Given the description of an element on the screen output the (x, y) to click on. 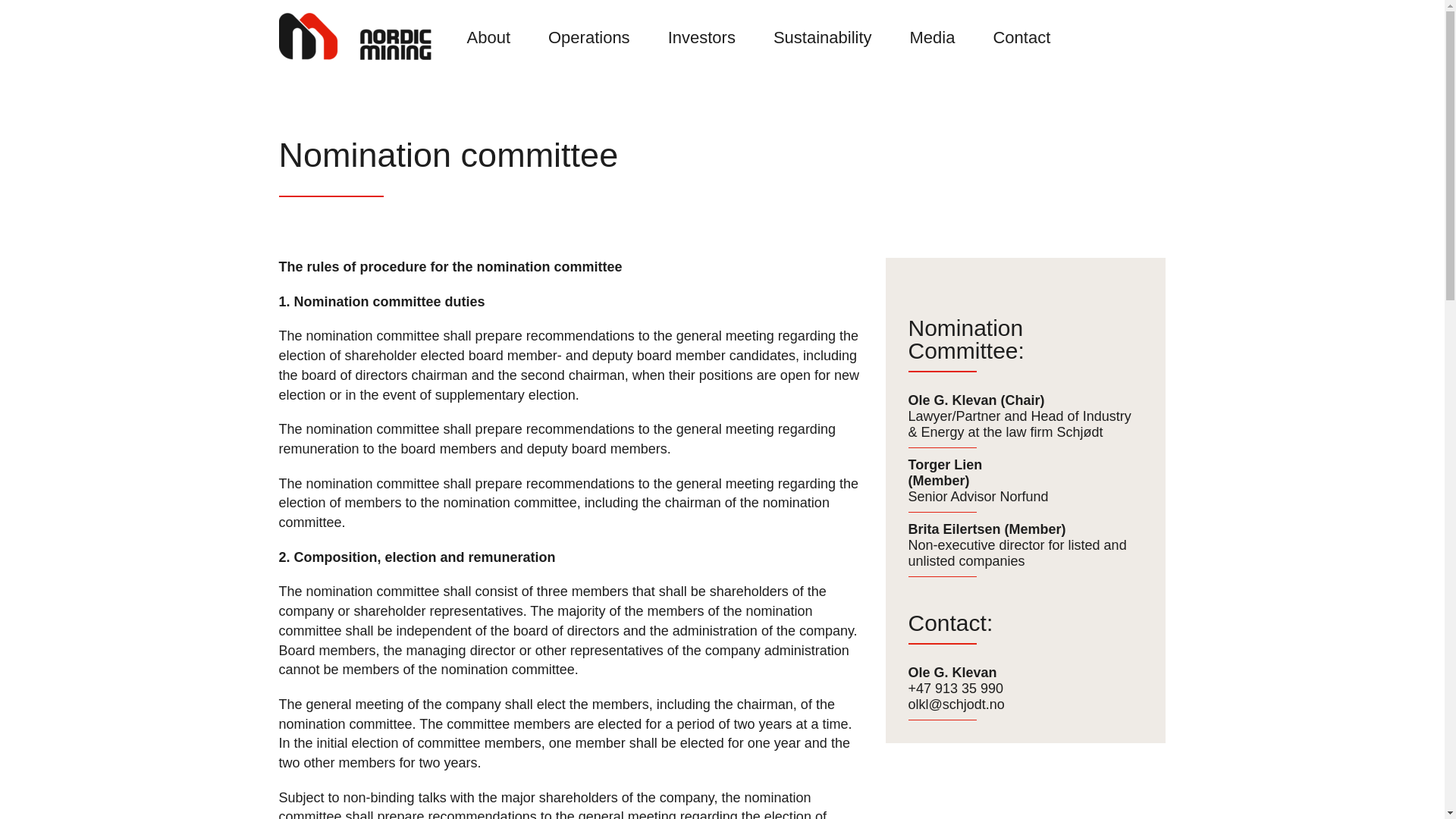
Media (932, 29)
Operations (588, 29)
Sustainability (823, 29)
Investors (701, 29)
